Given the description of an element on the screen output the (x, y) to click on. 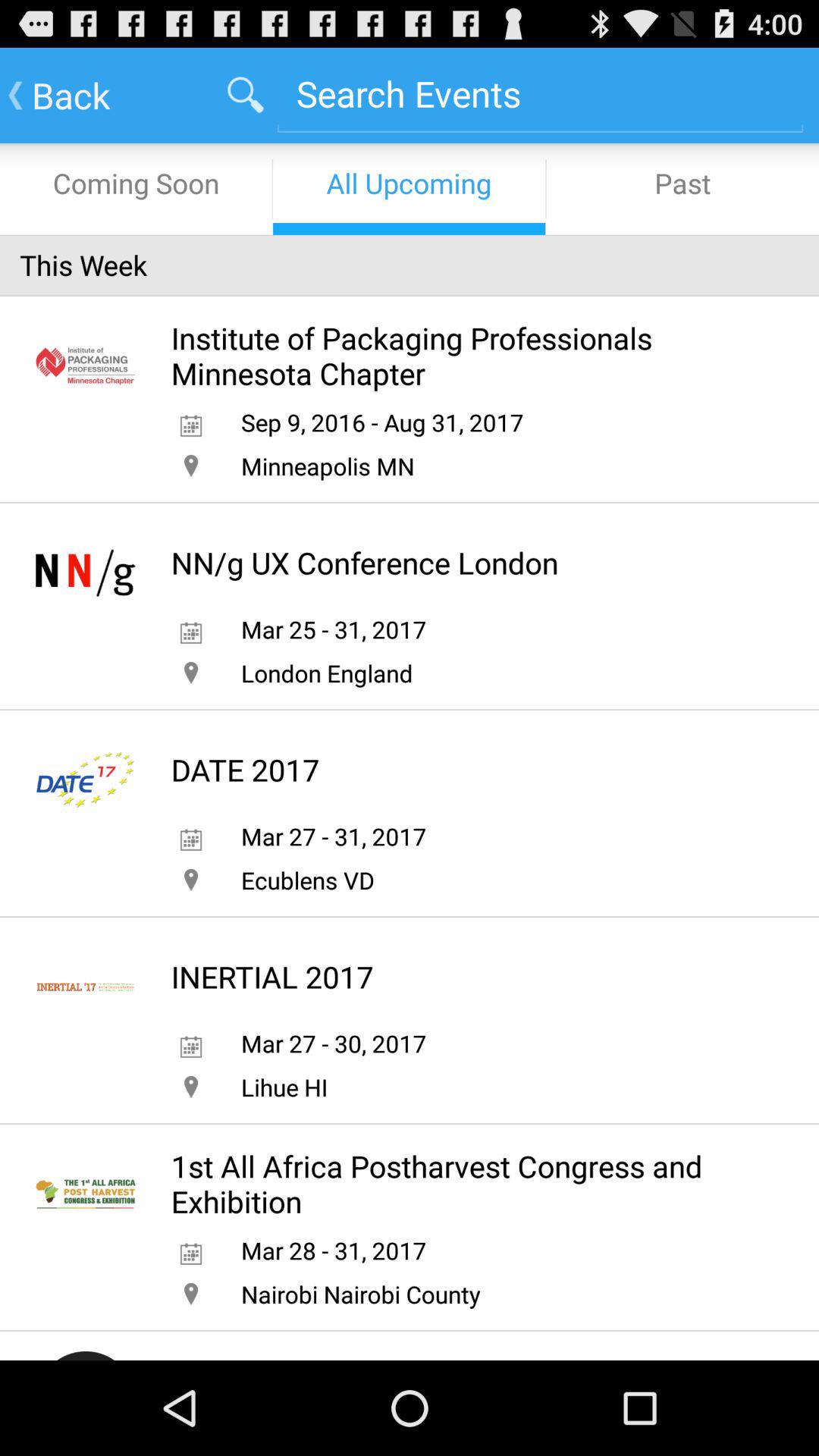
jump until sep 9 2016 app (382, 422)
